Given the description of an element on the screen output the (x, y) to click on. 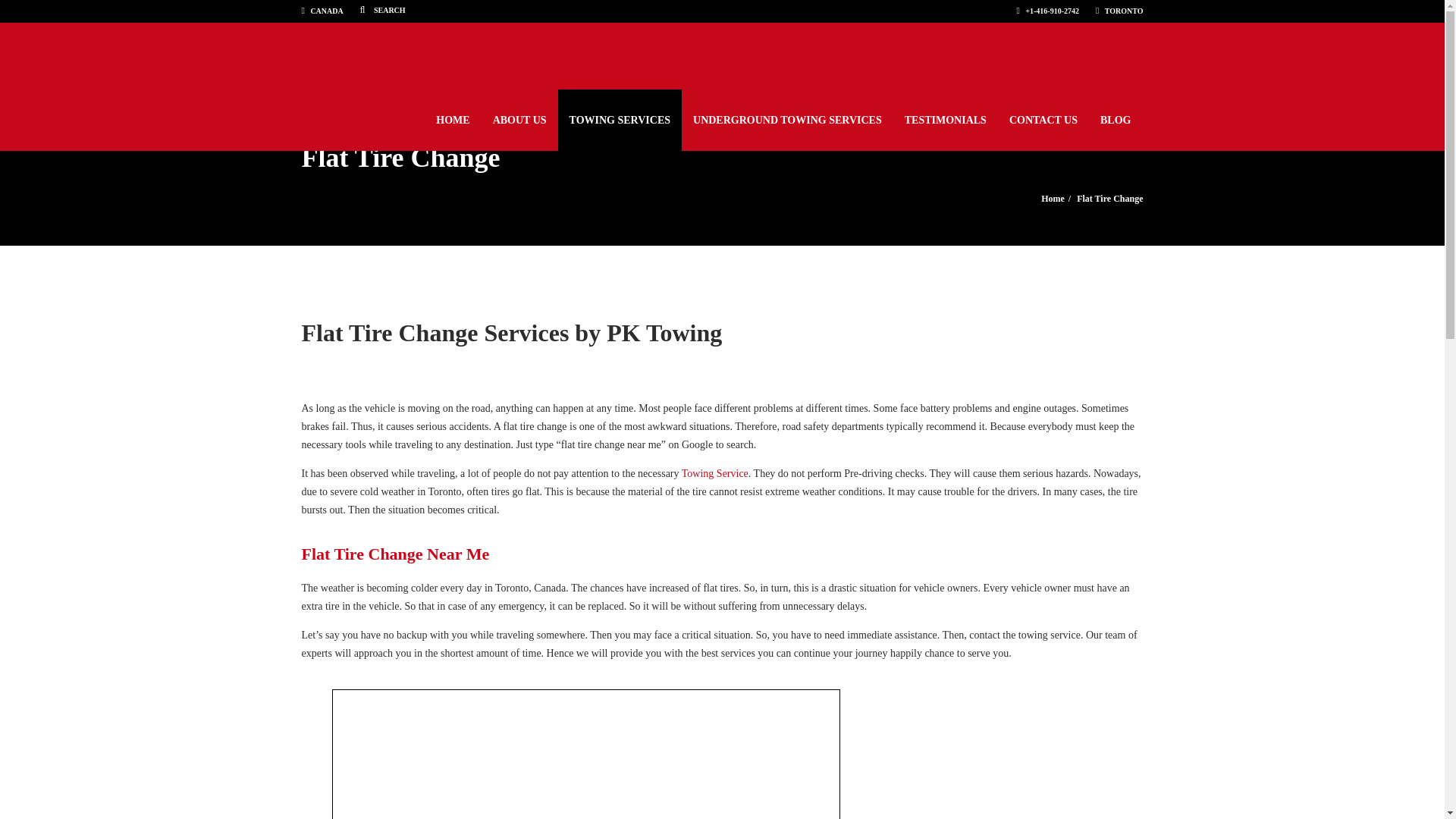
UNDERGROUND TOWING SERVICES (787, 119)
TOWING SERVICES (619, 119)
TORONTO (1119, 10)
Groovy Directory.com (465, 8)
ABOUT US (519, 119)
CANADA (322, 10)
Lemon Directory.com (563, 8)
HOME (452, 119)
DigiCan.ca (636, 8)
